Given the description of an element on the screen output the (x, y) to click on. 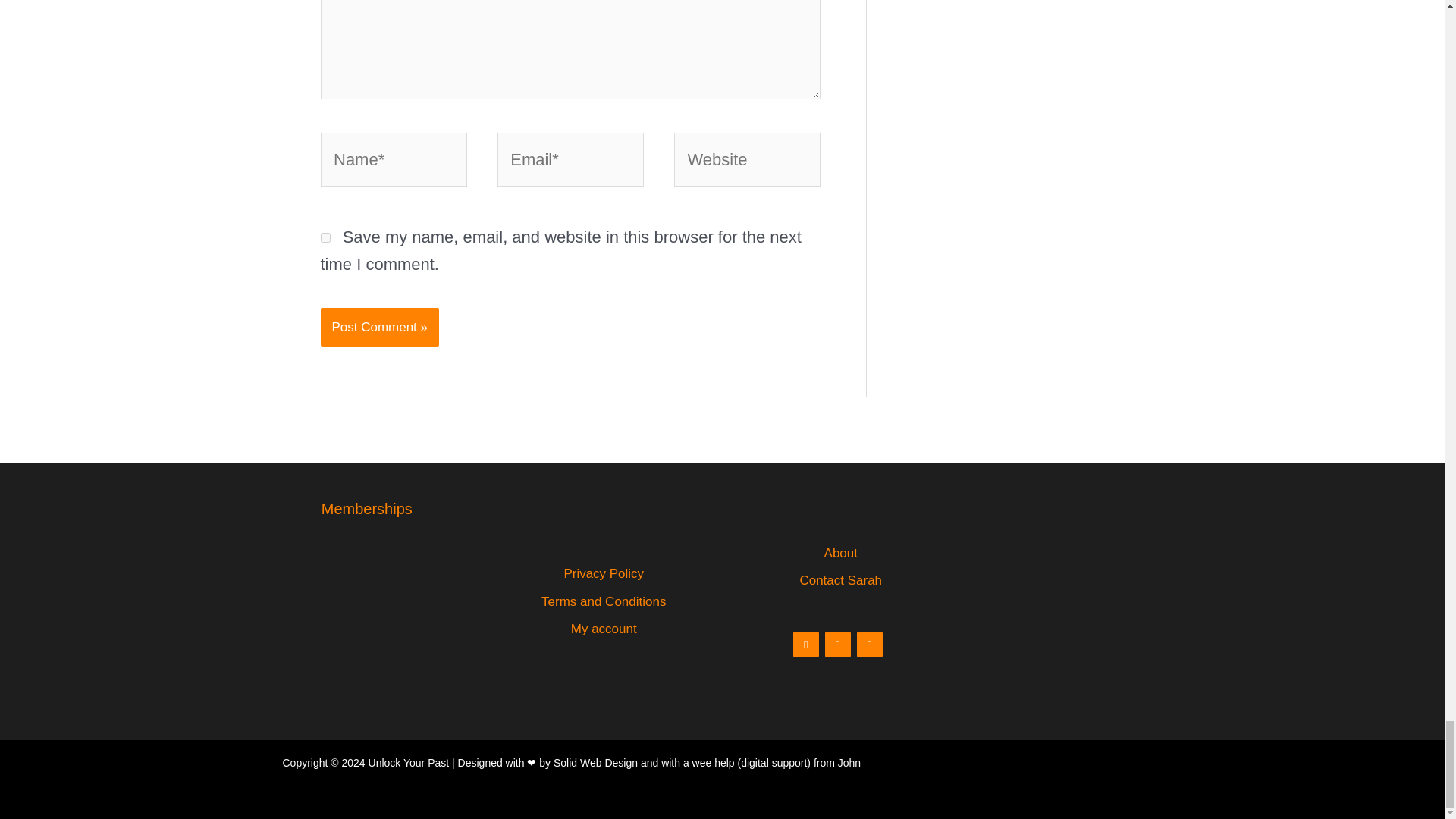
LinkedIn (837, 644)
Twitter (869, 644)
member of the Association of Professional Genealogists (366, 557)
Facebook (805, 644)
yes (325, 237)
